Given the description of an element on the screen output the (x, y) to click on. 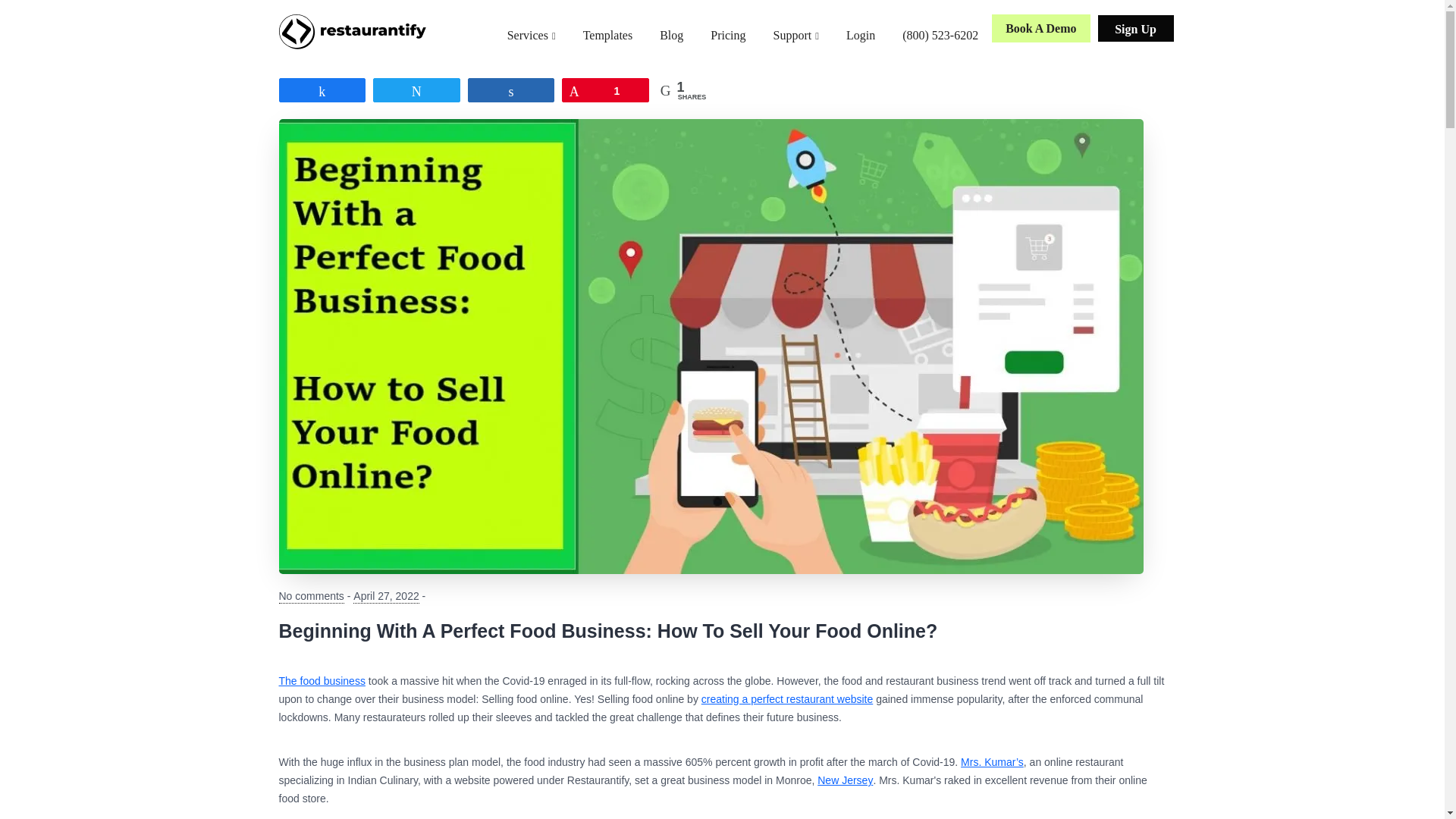
Pricing (727, 35)
Login (860, 35)
Templates (607, 35)
Templates (607, 35)
Services (531, 35)
Sign Up (1135, 29)
Blog (671, 35)
Support (796, 35)
Pricing (727, 35)
